Given the description of an element on the screen output the (x, y) to click on. 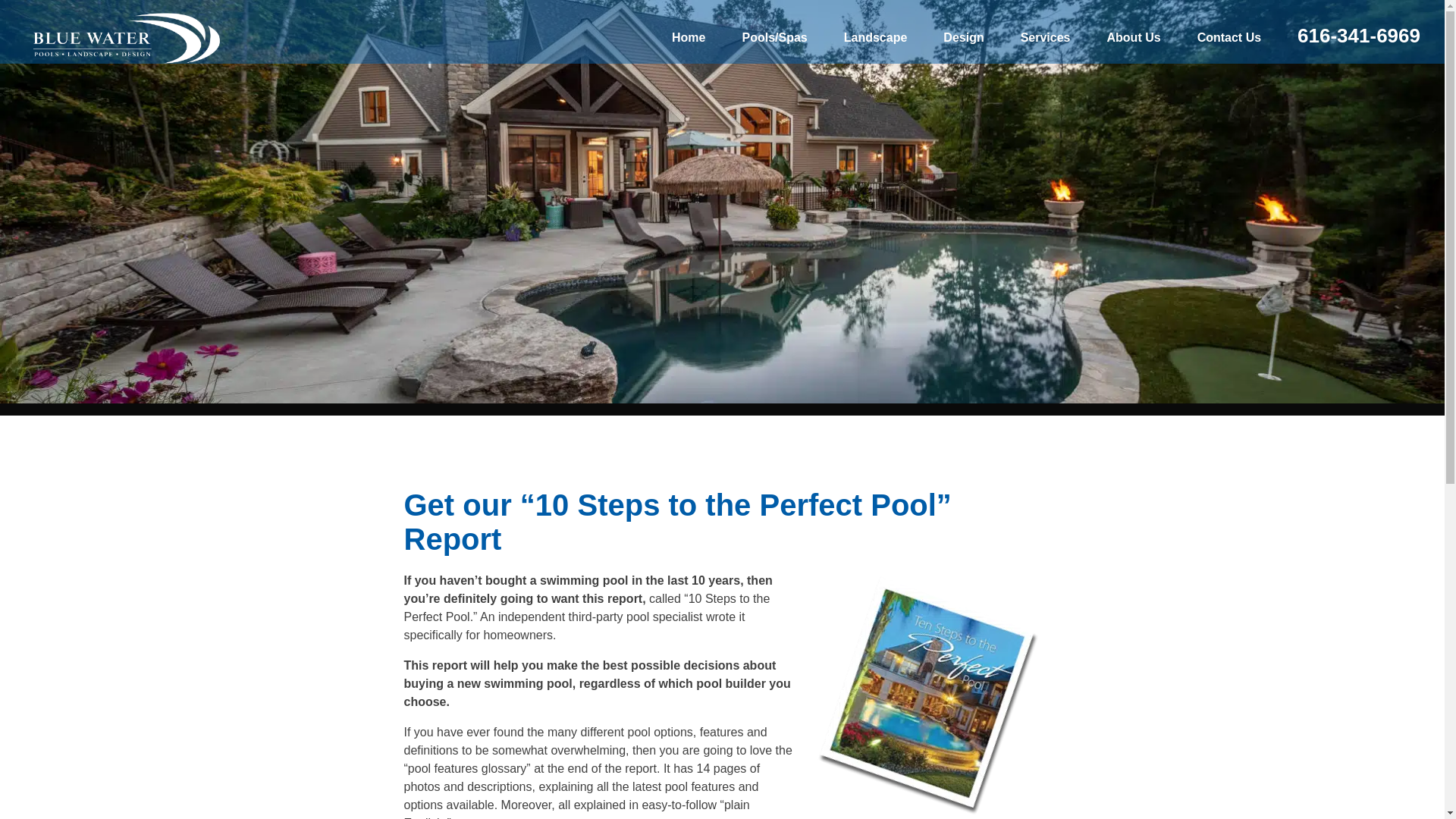
Design (962, 37)
Home (688, 37)
Contact Us (1229, 37)
Landscape (875, 37)
Services (1046, 37)
About Us (1134, 37)
616-341-6969 (1358, 39)
